Given the description of an element on the screen output the (x, y) to click on. 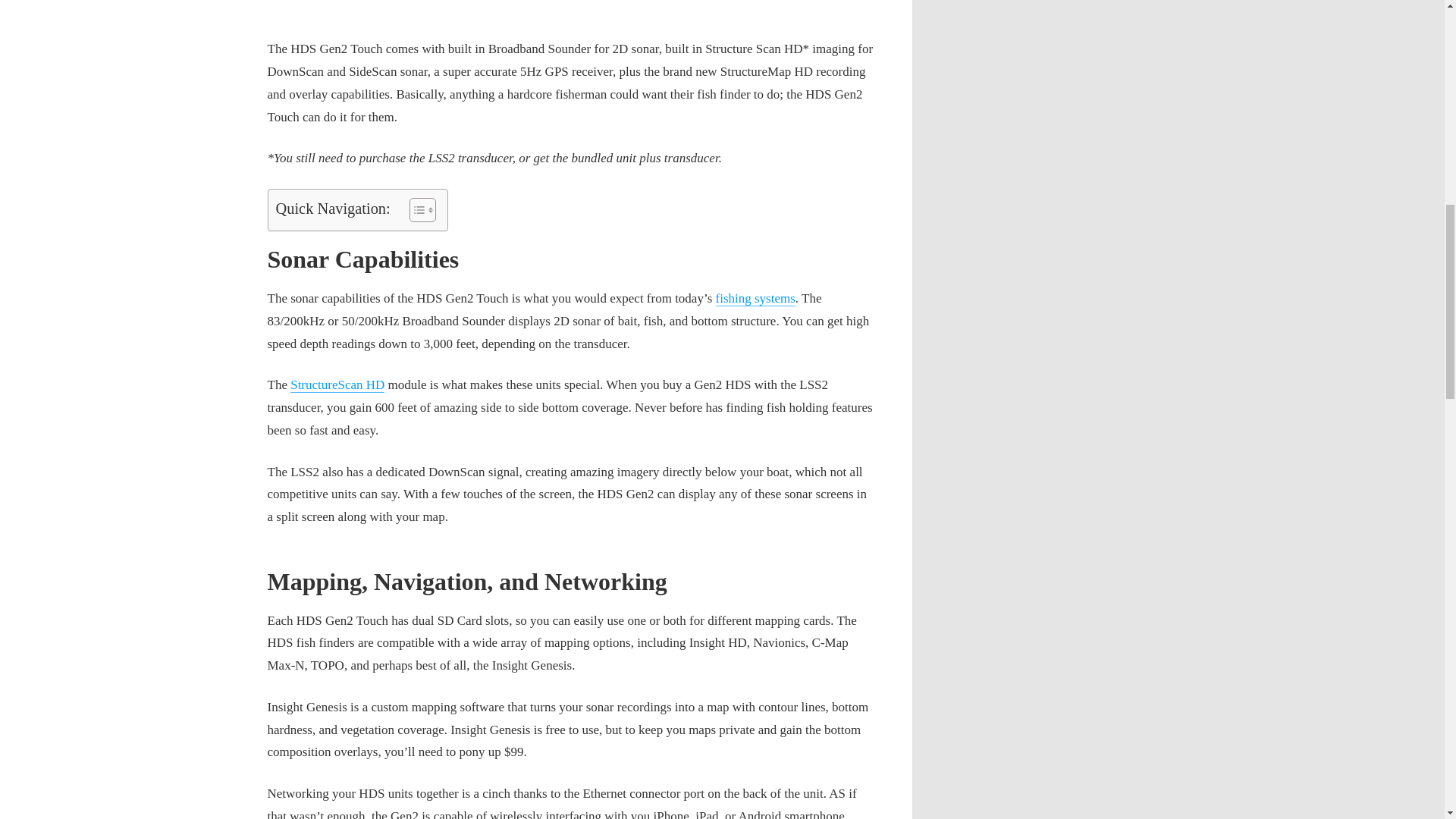
StructureScan HD (336, 384)
fishing systems (755, 298)
Advertisement (569, 11)
